Given the description of an element on the screen output the (x, y) to click on. 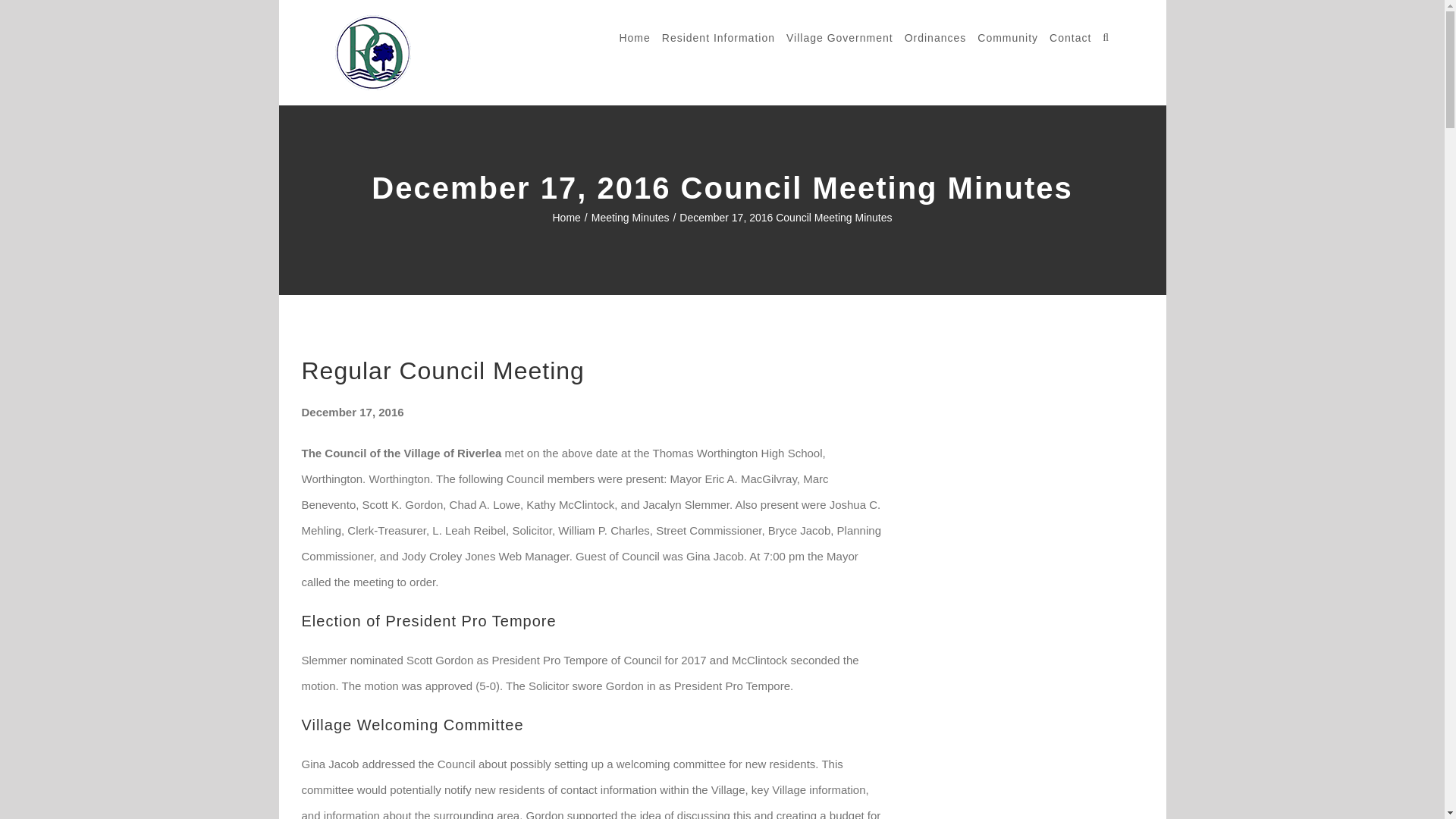
Village Government (839, 38)
Resident Information (718, 38)
Home (565, 217)
Meeting Minutes (630, 217)
